Given the description of an element on the screen output the (x, y) to click on. 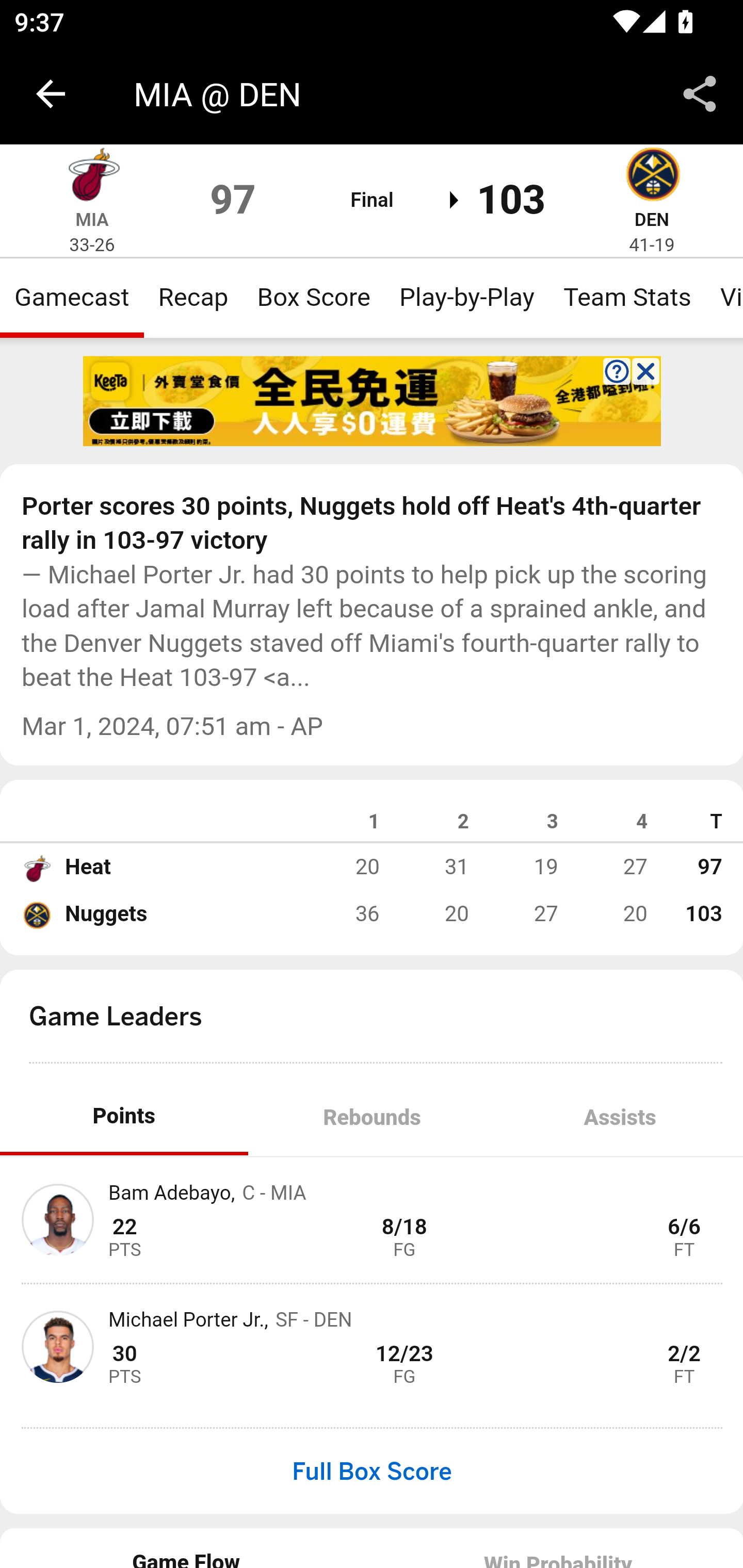
Navigate up (50, 93)
Share (699, 93)
Miami Heat (91, 177)
Denver Nuggets (651, 177)
MIA (91, 219)
DEN (651, 219)
Gamecast (72, 296)
Recap (192, 296)
Box Score (314, 296)
Play-by-Play (466, 296)
Team Stats (627, 296)
Miami Heat (36, 866)
Denver Nuggets (36, 913)
Points (124, 1116)
Rebounds (371, 1116)
Assists (618, 1116)
Full Box Score (371, 1471)
Game Flow (186, 1547)
Win Probability (557, 1547)
